Given the description of an element on the screen output the (x, y) to click on. 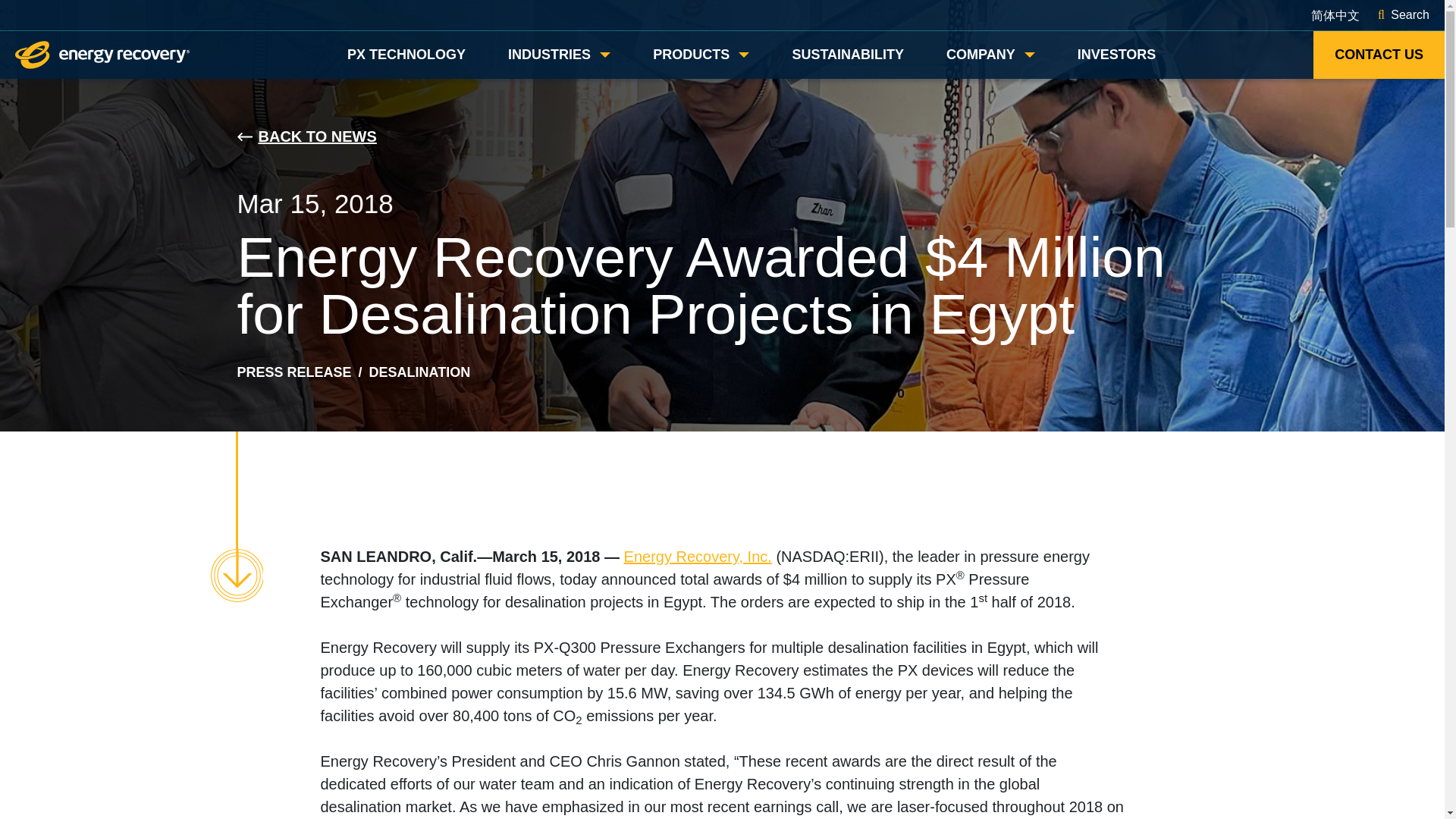
Investors (1116, 55)
Open Company Submenu (990, 55)
PX Technology (406, 55)
Search (1403, 14)
PX TECHNOLOGY (406, 55)
Sustainability (848, 55)
Open Products Submenu (700, 55)
Open Industries Submenu (559, 55)
